Given the description of an element on the screen output the (x, y) to click on. 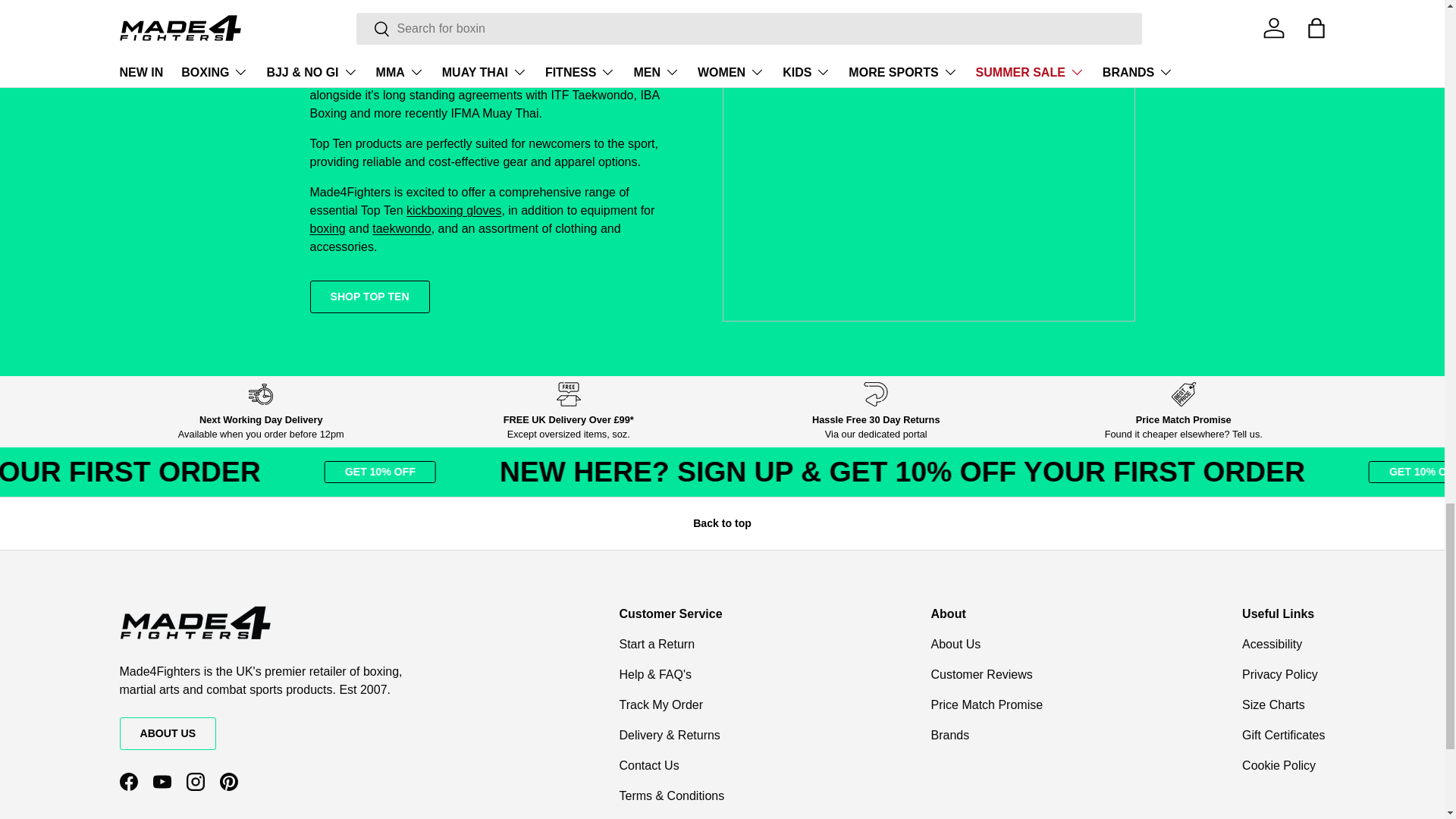
Made4Fighters on YouTube (162, 781)
Made4Fighters on Pinterest (229, 781)
Made4Fighters on Facebook (128, 781)
Made4Fighters on Instagram (195, 781)
